Given the description of an element on the screen output the (x, y) to click on. 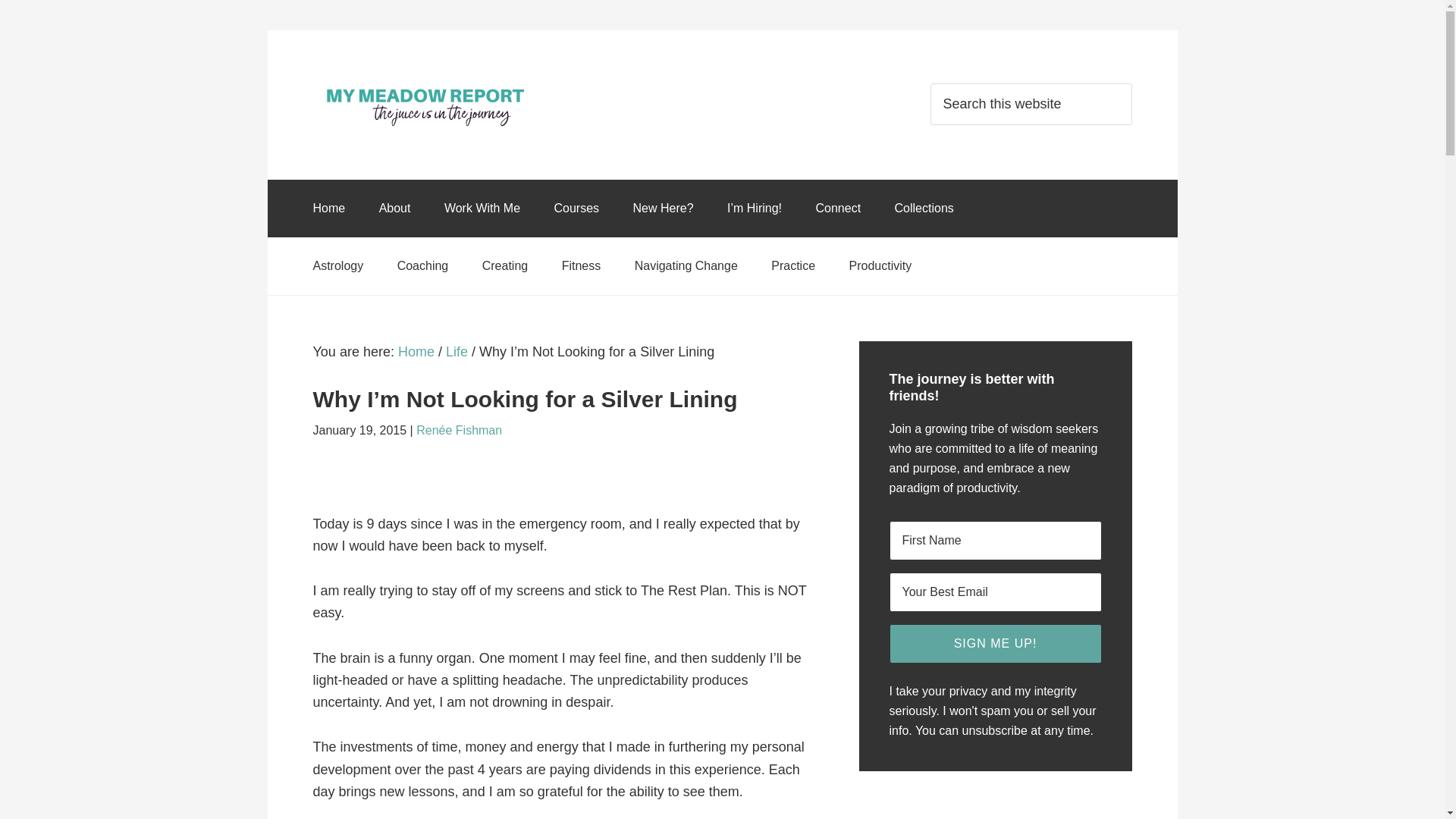
Life (456, 351)
Collections (924, 208)
Practice (792, 265)
Home (415, 351)
Connect (838, 208)
Fitness (581, 265)
About (395, 208)
MY MEADOW REPORT (426, 104)
Sign Me Up! (994, 643)
